Given the description of an element on the screen output the (x, y) to click on. 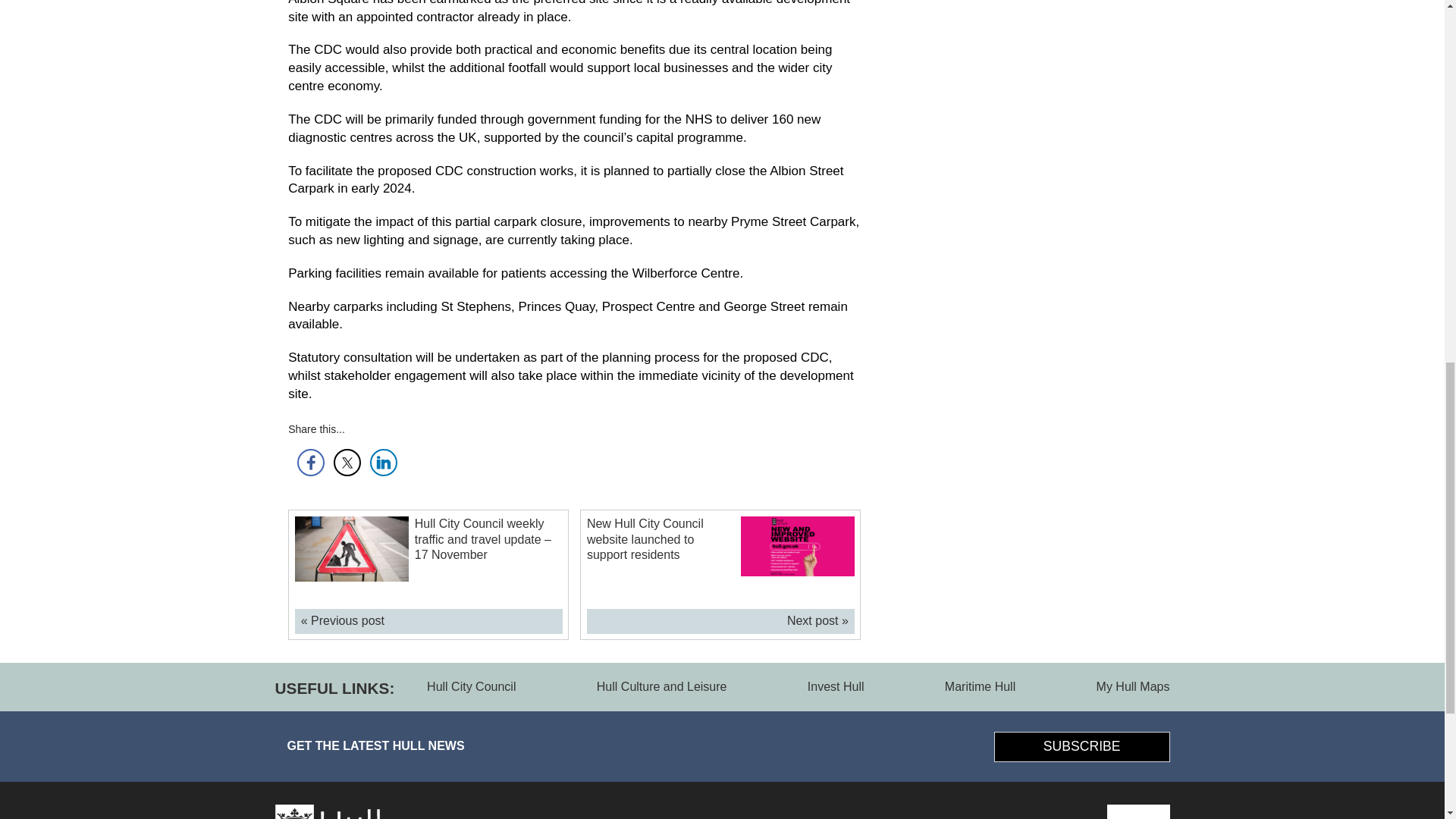
Visit Hull (1138, 811)
Subscribe (1082, 747)
Hull Culture and Leisure (661, 686)
New Hull City Council website launched to support residents  (644, 539)
Hull City Council (470, 686)
Invest Hull (836, 686)
